Given the description of an element on the screen output the (x, y) to click on. 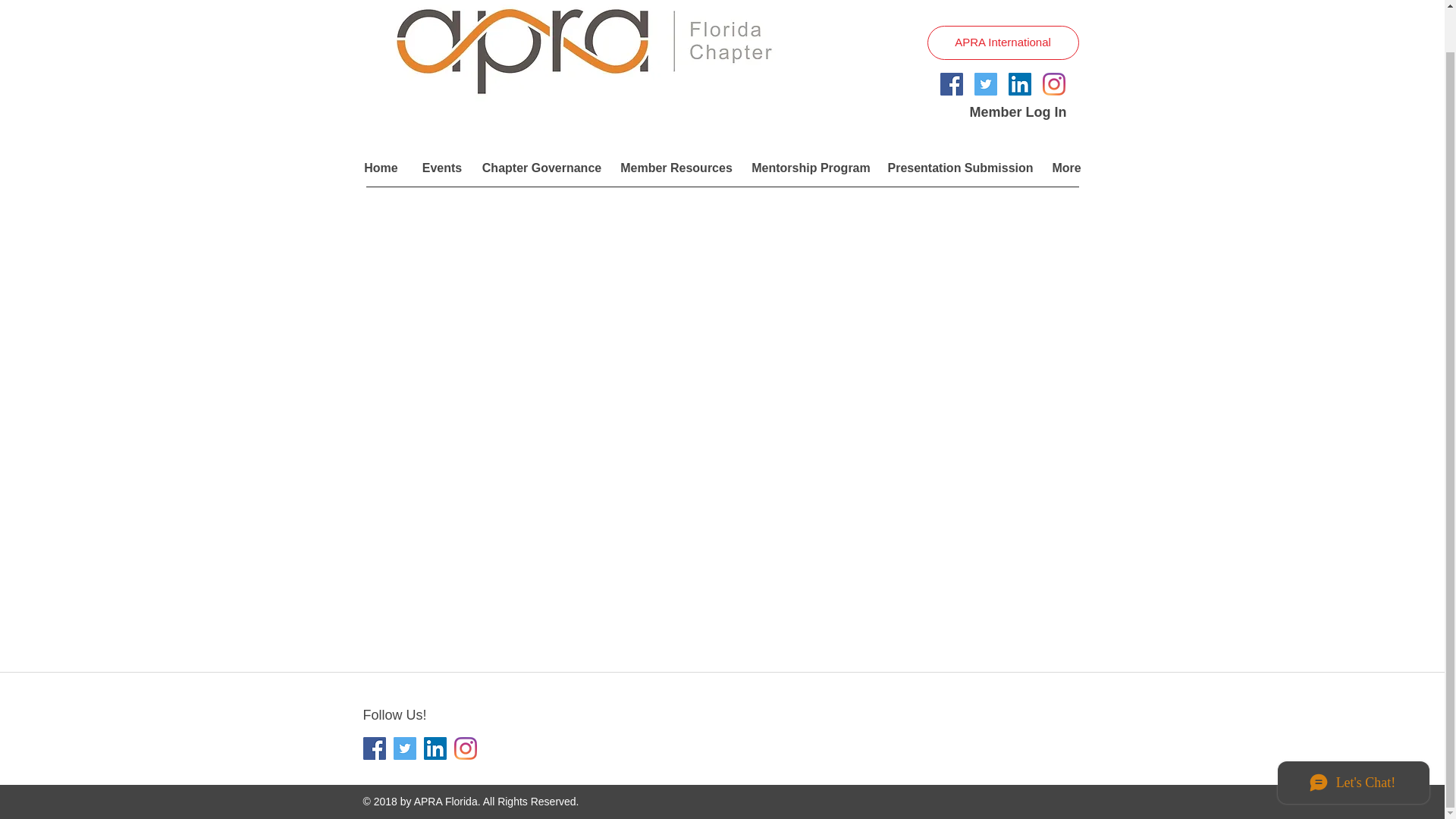
Member Resources (676, 167)
APRA International (1002, 42)
Home (380, 167)
Presentation Submission (959, 167)
Events (440, 167)
Member Log In (1017, 112)
APRA FL Logo.jpg (593, 63)
Mentorship Program (810, 167)
Chapter Governance (542, 167)
